Given the description of an element on the screen output the (x, y) to click on. 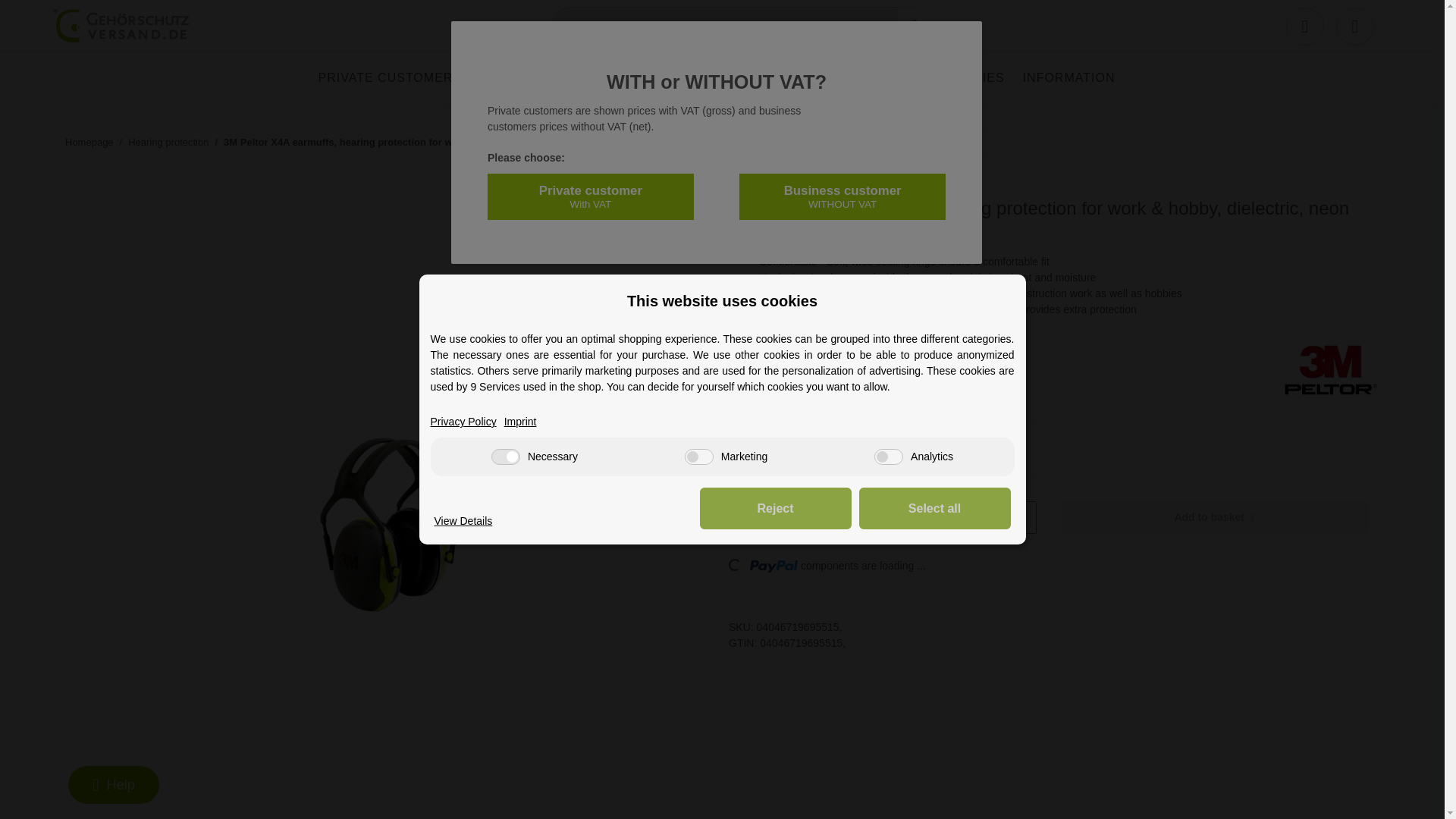
Business customers (557, 77)
Information (1068, 77)
Homepage (89, 142)
on (698, 456)
on (505, 456)
Private customers (389, 77)
1 (856, 517)
Hearing protection (729, 77)
on (888, 456)
